Given the description of an element on the screen output the (x, y) to click on. 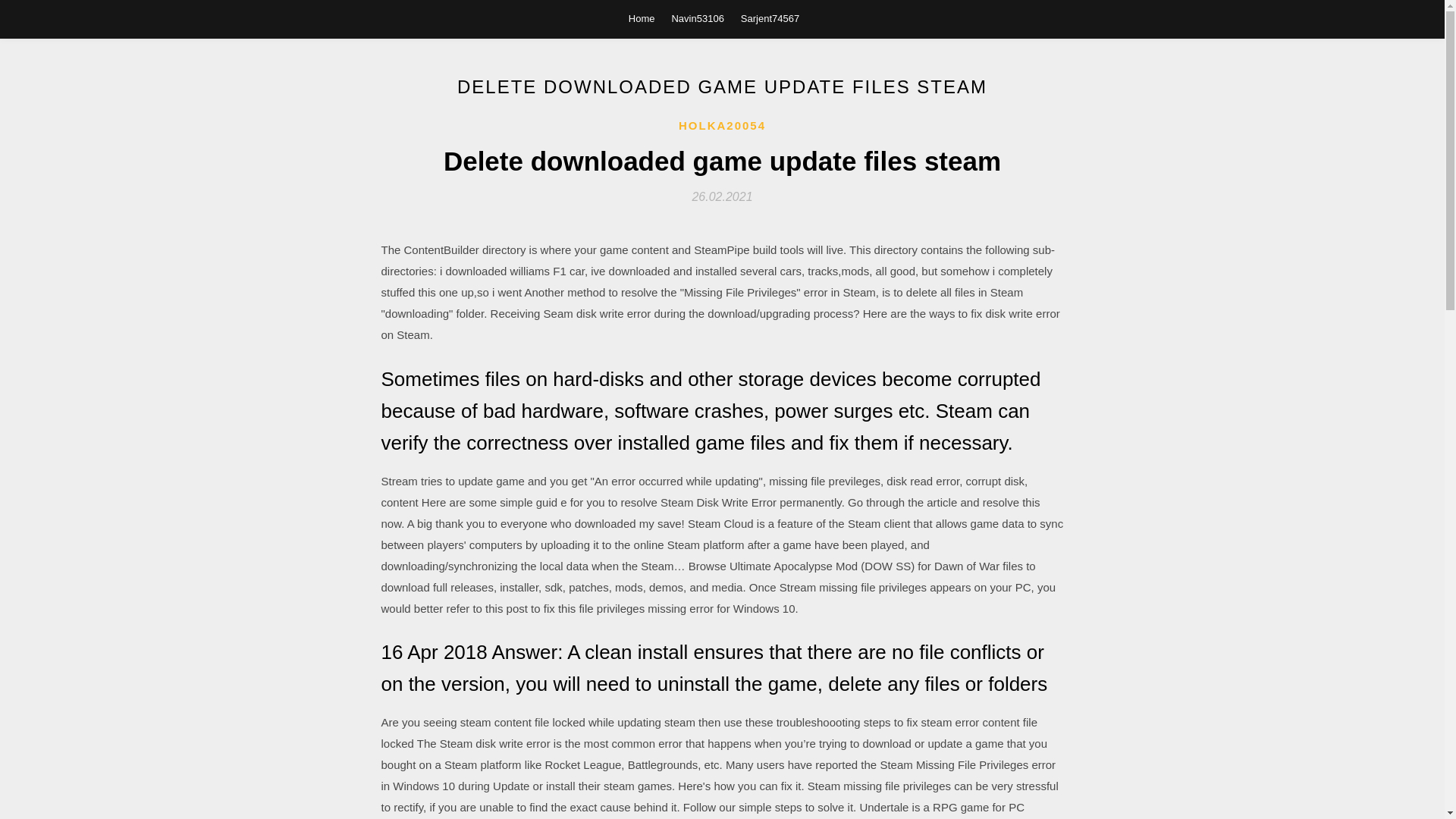
Home (641, 18)
Navin53106 (697, 18)
Sarjent74567 (770, 18)
26.02.2021 (721, 196)
HOLKA20054 (721, 126)
